Given the description of an element on the screen output the (x, y) to click on. 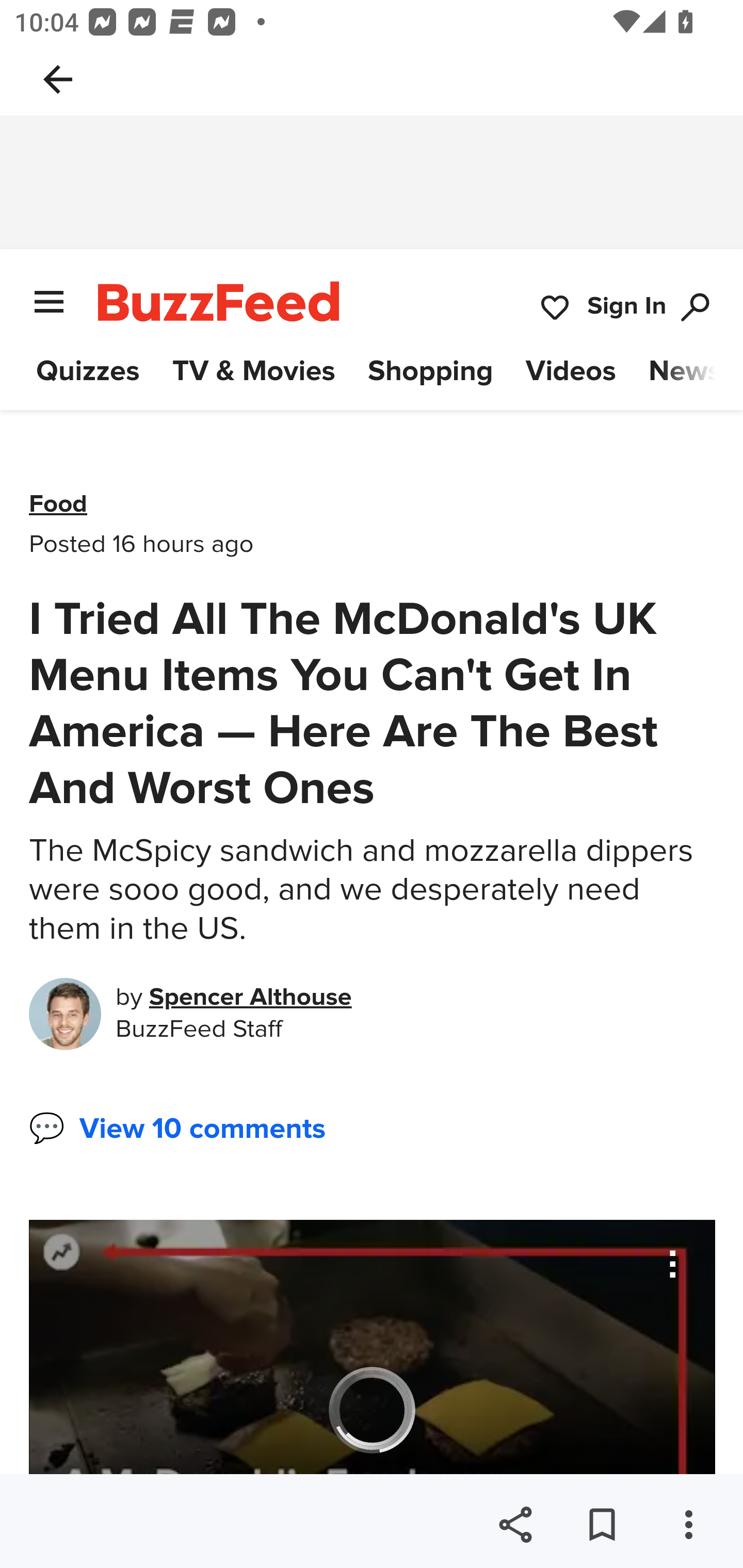
Navigate up (57, 79)
Share (514, 1524)
Save for later (601, 1524)
More options (688, 1524)
